Given the description of an element on the screen output the (x, y) to click on. 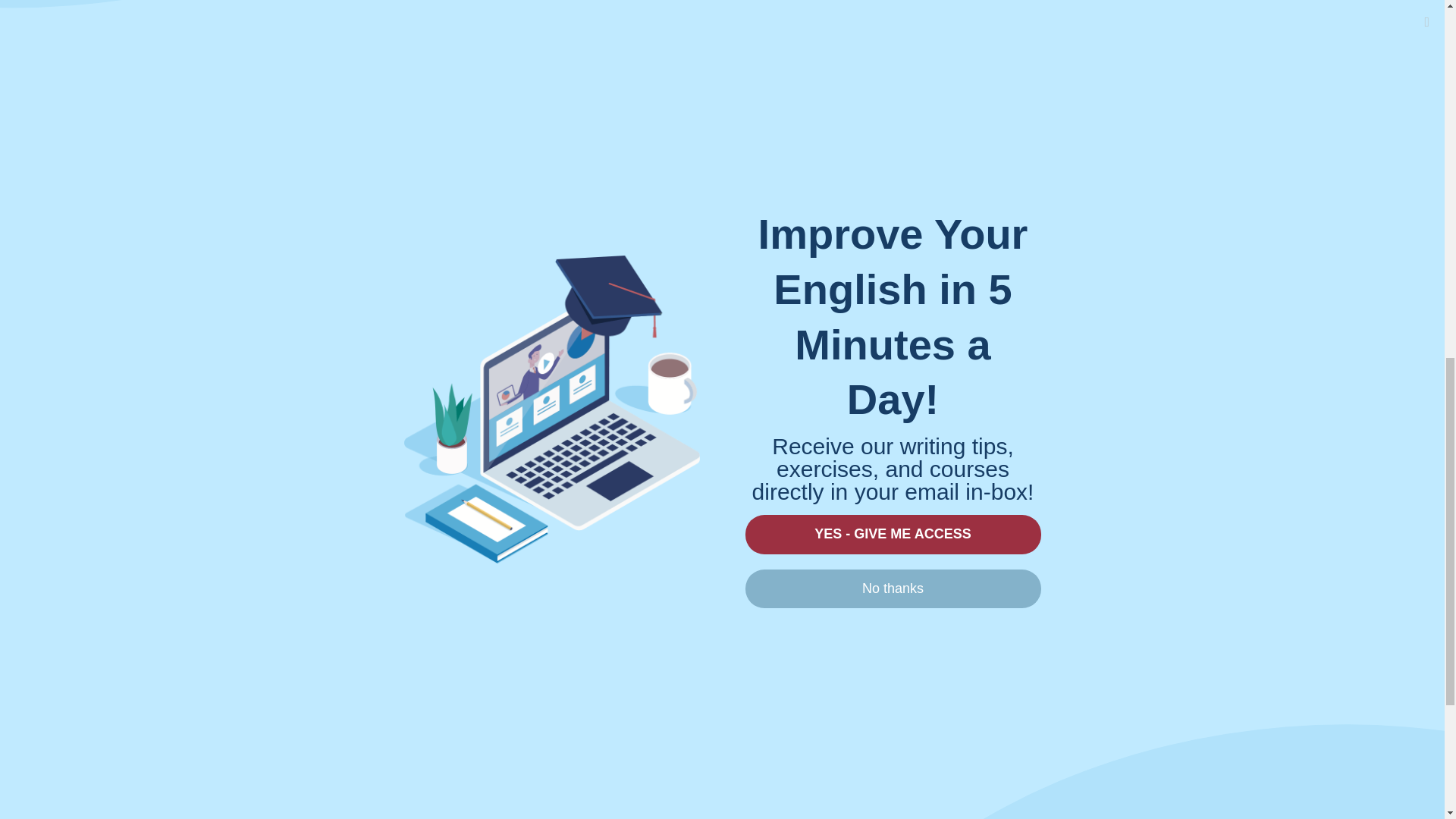
Writing Quizzes (1006, 413)
General (985, 104)
Rod (353, 122)
Freelance Writing (1012, 78)
Expressions (997, 26)
Misused Words (1007, 181)
Writing Competitions (1022, 387)
Word of the Day (1008, 335)
Fiction Writing (1003, 52)
Vocabulary (994, 310)
Grammar 101 (1003, 155)
Style (977, 258)
Post Comment (354, 651)
Punctuation (996, 207)
